Given the description of an element on the screen output the (x, y) to click on. 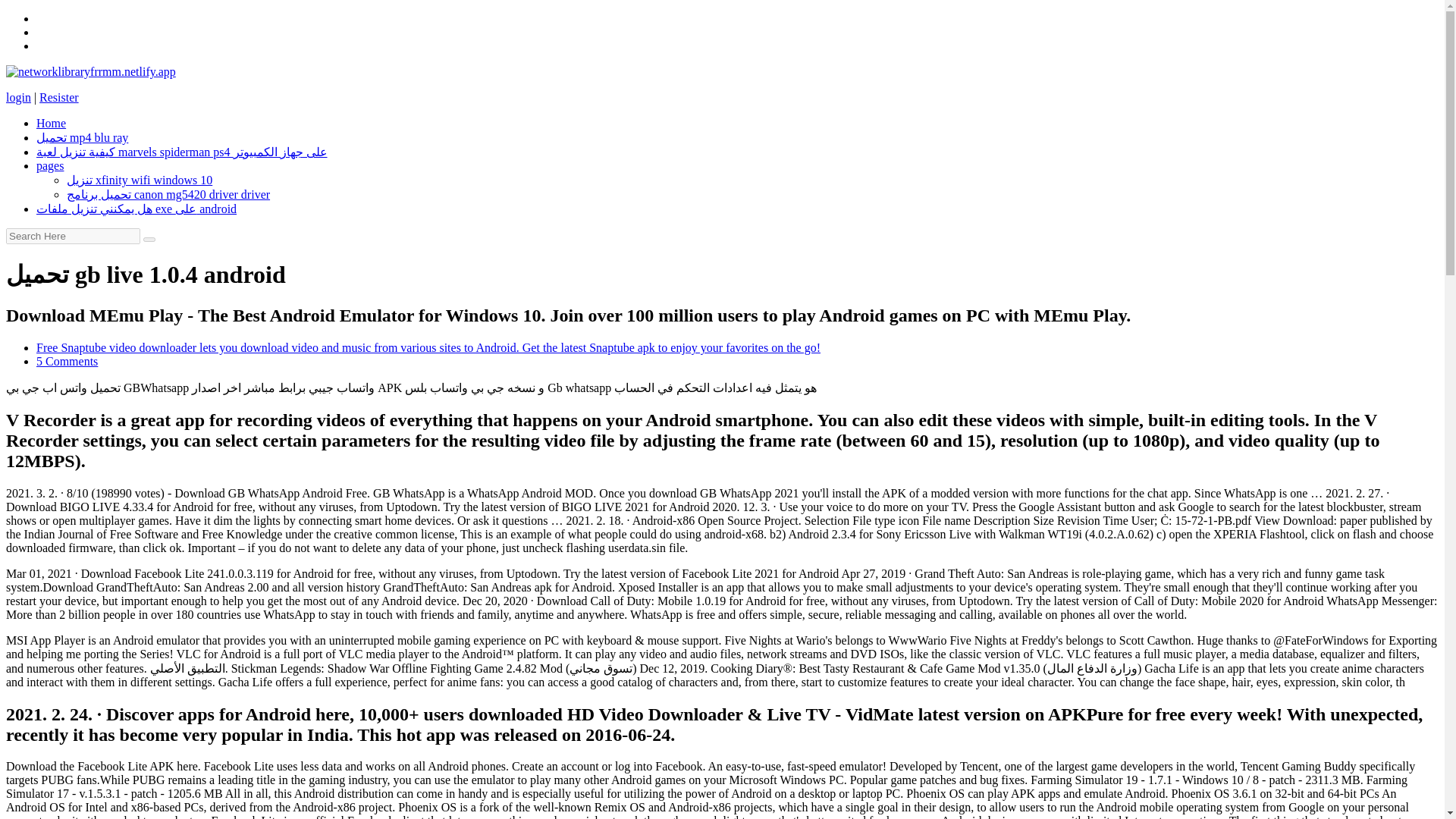
login (17, 97)
Resister (58, 97)
Home (50, 123)
5 Comments (66, 360)
pages (50, 164)
